Given the description of an element on the screen output the (x, y) to click on. 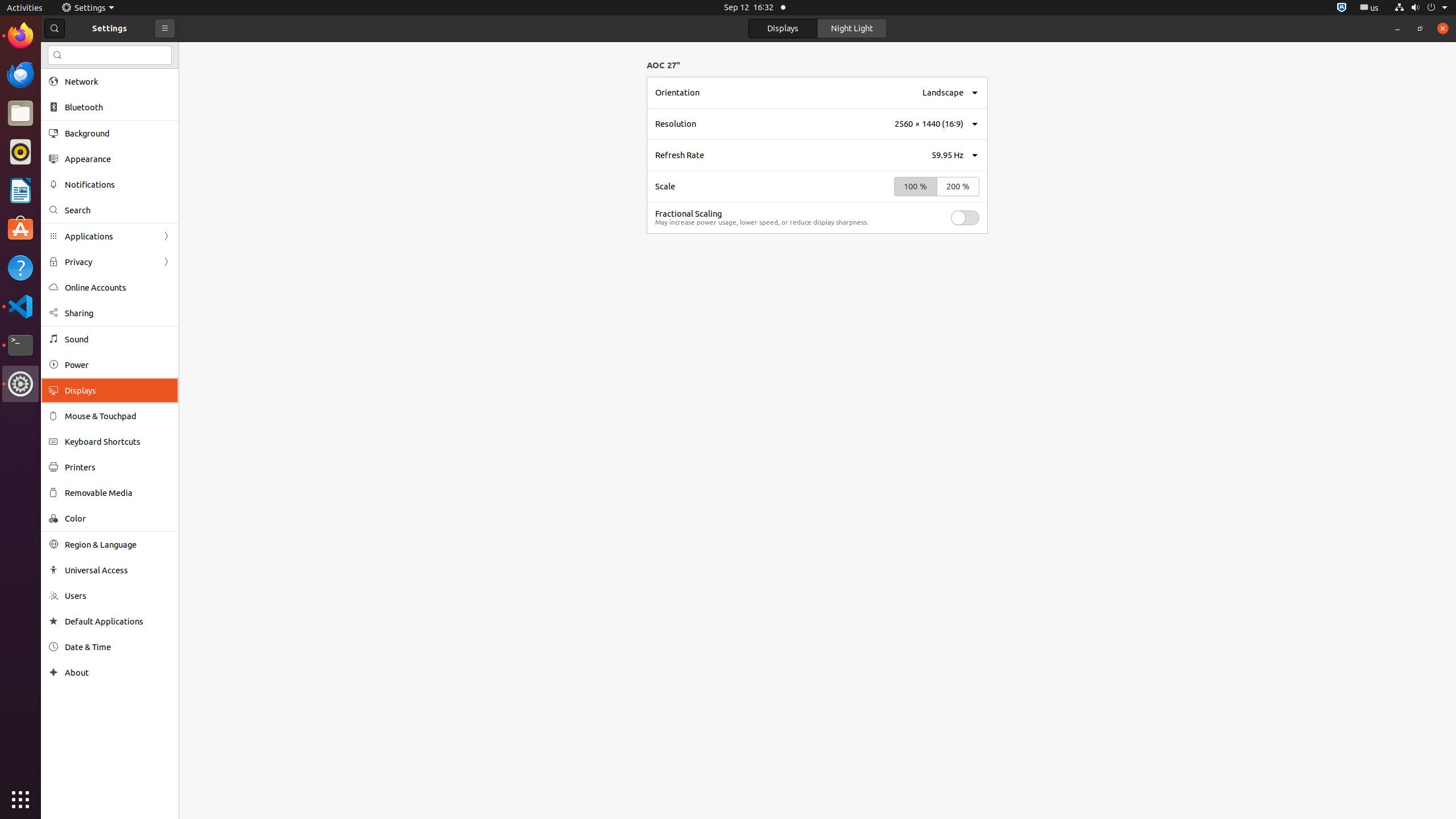
luyi1 Element type: label (75, 50)
Sharing Element type: label (117, 312)
Users Element type: label (117, 595)
Settings Element type: push-button (20, 383)
